Given the description of an element on the screen output the (x, y) to click on. 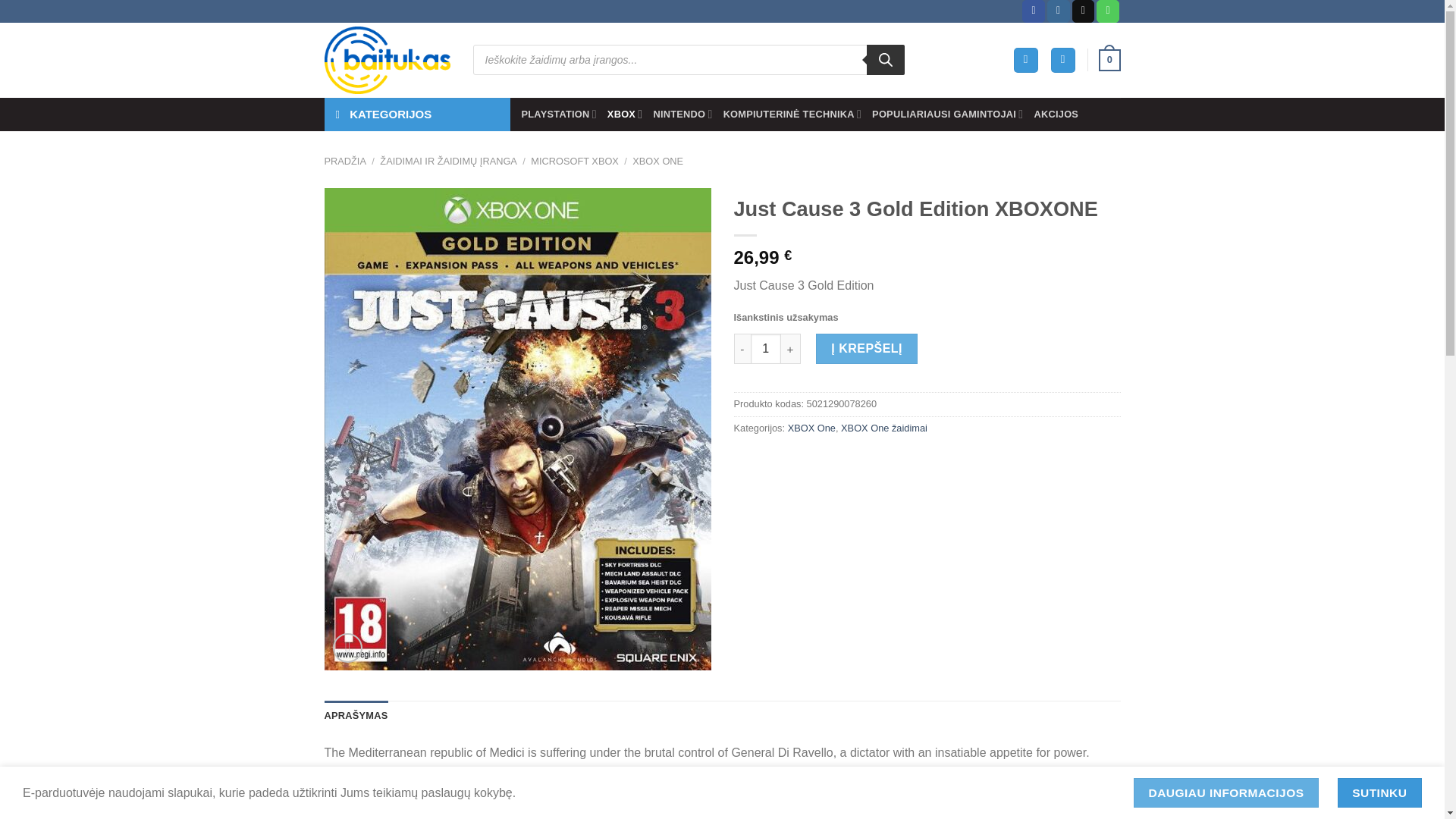
Zoom (347, 647)
- (742, 348)
Send us an email (1082, 11)
Kiekis (765, 348)
0 (1109, 60)
Call us (1107, 11)
Follow on Instagram (1058, 11)
Follow on Facebook (1033, 11)
1 (765, 348)
